Given the description of an element on the screen output the (x, y) to click on. 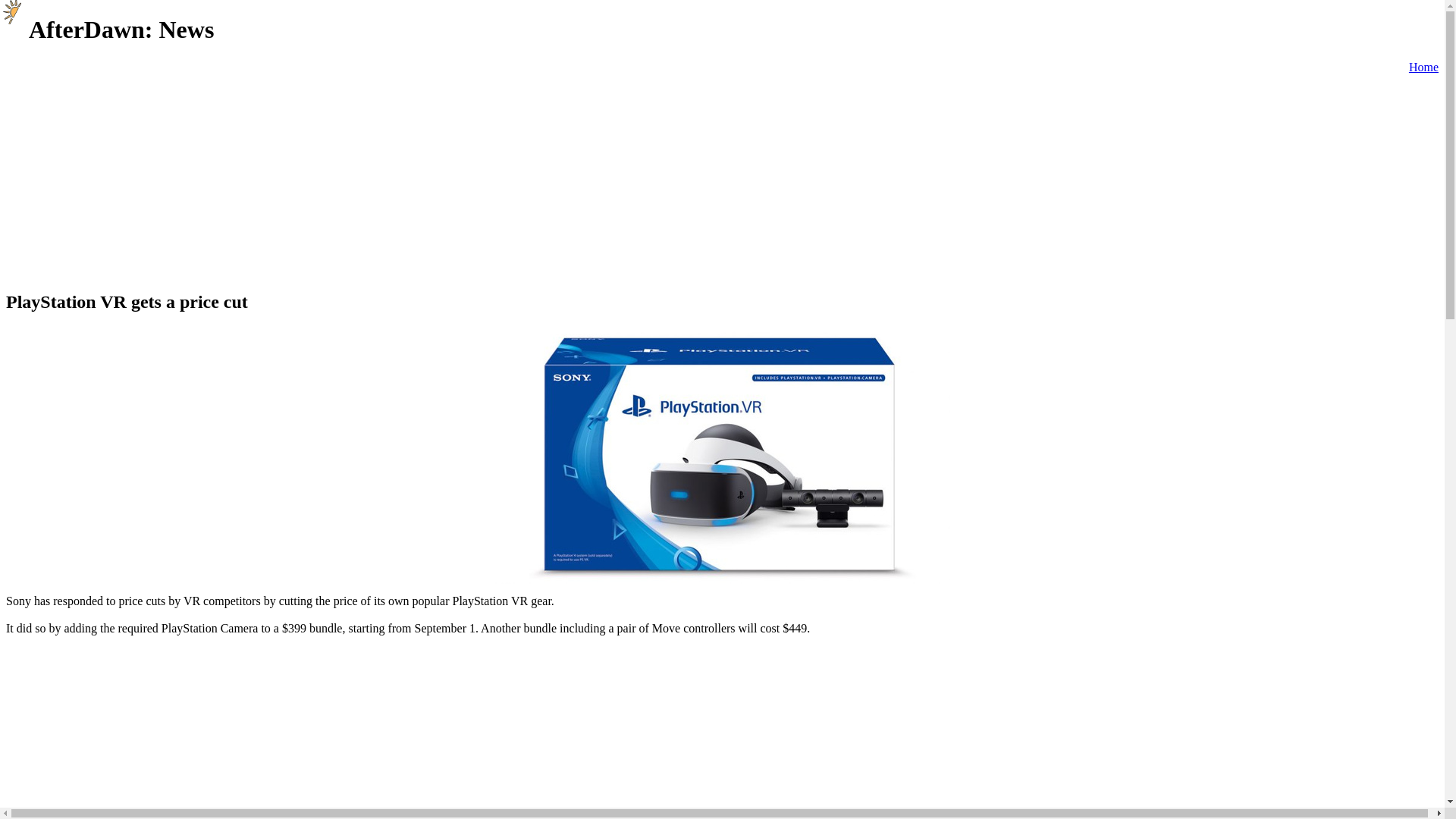
Home (1423, 67)
Advertisement (701, 144)
